Given the description of an element on the screen output the (x, y) to click on. 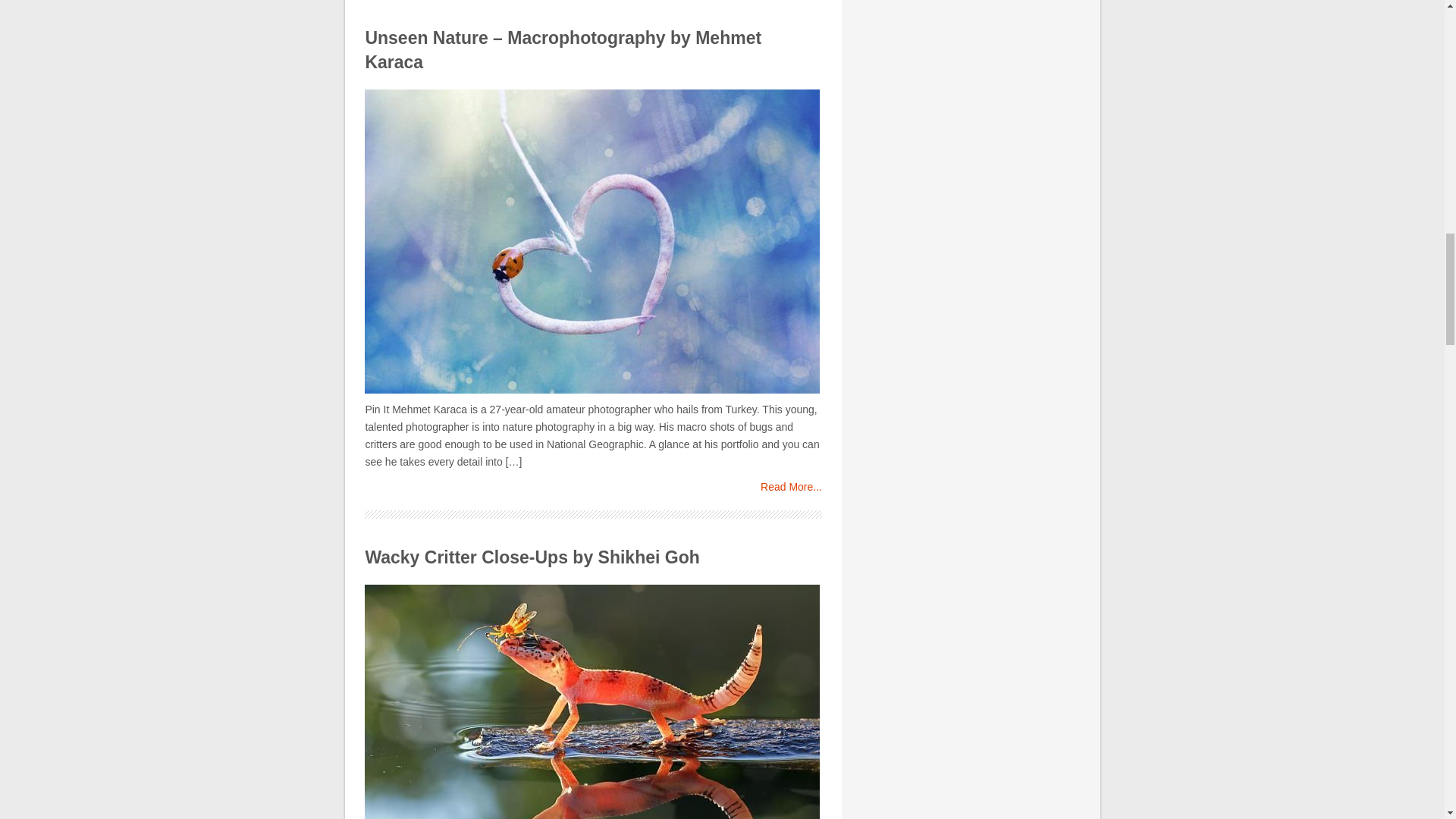
Wacky Critter Close-Ups by Shikhei Goh (531, 557)
Wacky Critter Close-Ups by Shikhei Goh (593, 701)
Read More... (791, 486)
Wacky Critter Close-Ups by Shikhei Goh (531, 557)
